Given the description of an element on the screen output the (x, y) to click on. 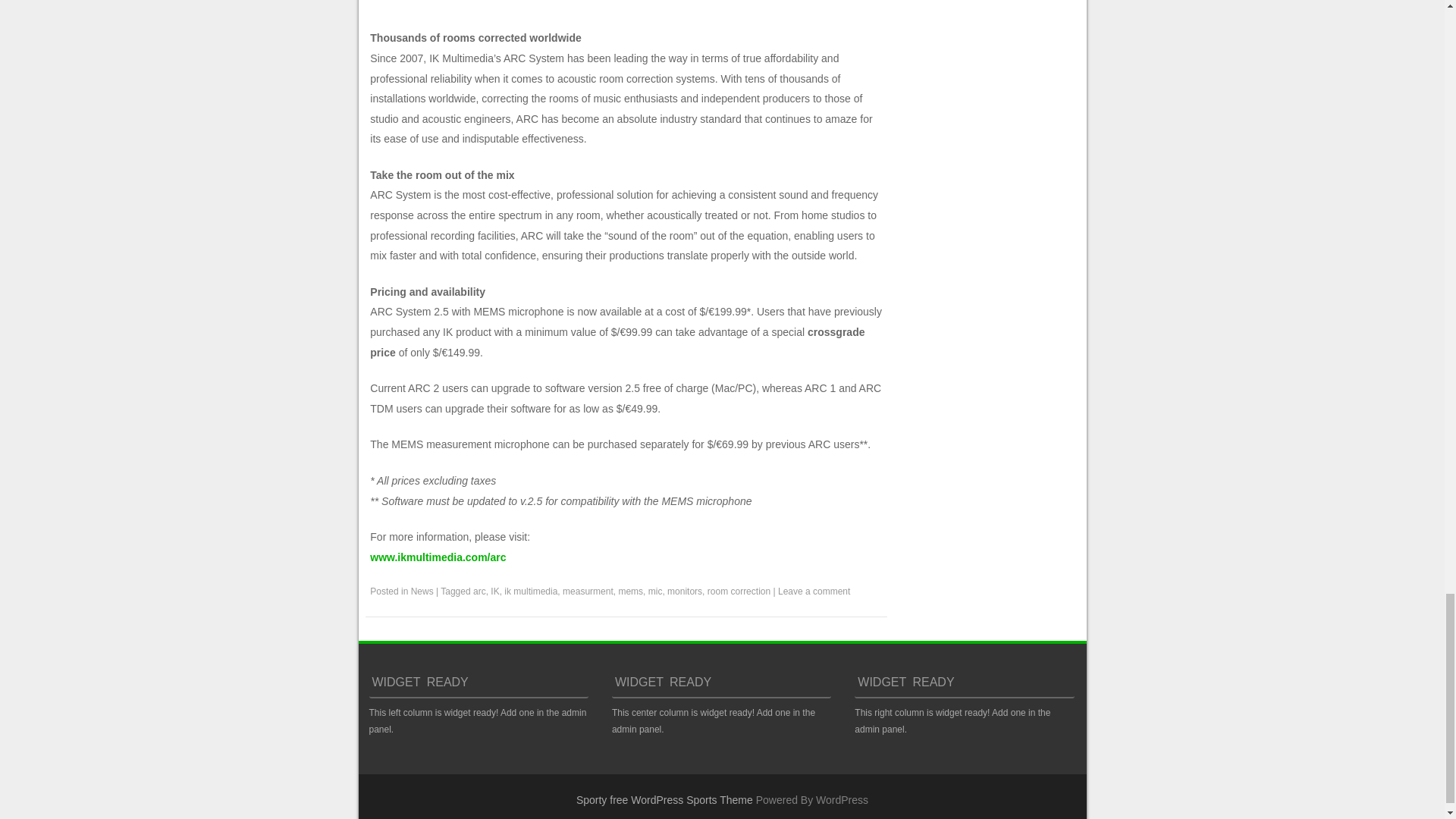
monitors (683, 591)
News (421, 591)
mic (654, 591)
Leave a comment (813, 591)
arc (479, 591)
room correction (738, 591)
measurment (587, 591)
ARC System 2.5 with MEMS microphone (437, 557)
ik multimedia (530, 591)
mems (630, 591)
